Given the description of an element on the screen output the (x, y) to click on. 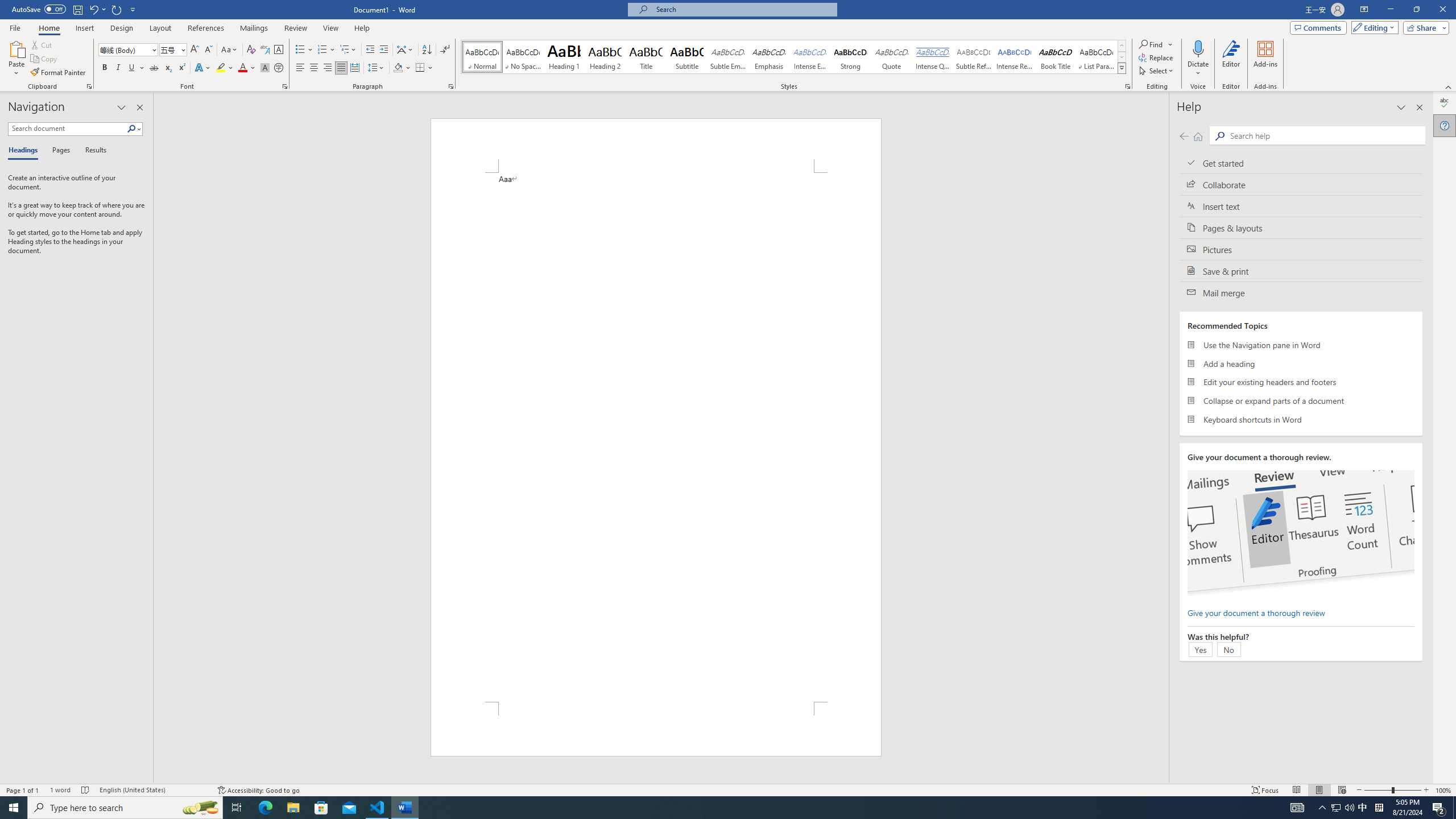
Center (313, 67)
Search (1325, 135)
Underline (136, 67)
editor ui screenshot (1300, 533)
Zoom Out (1377, 790)
Results (91, 150)
Subtle Emphasis (727, 56)
Font Size (169, 49)
Numbering (326, 49)
Collapse the Ribbon (1448, 86)
Edit your existing headers and footers (1300, 381)
Paste (16, 58)
Customize Quick Access Toolbar (133, 9)
Find (1155, 44)
